Given the description of an element on the screen output the (x, y) to click on. 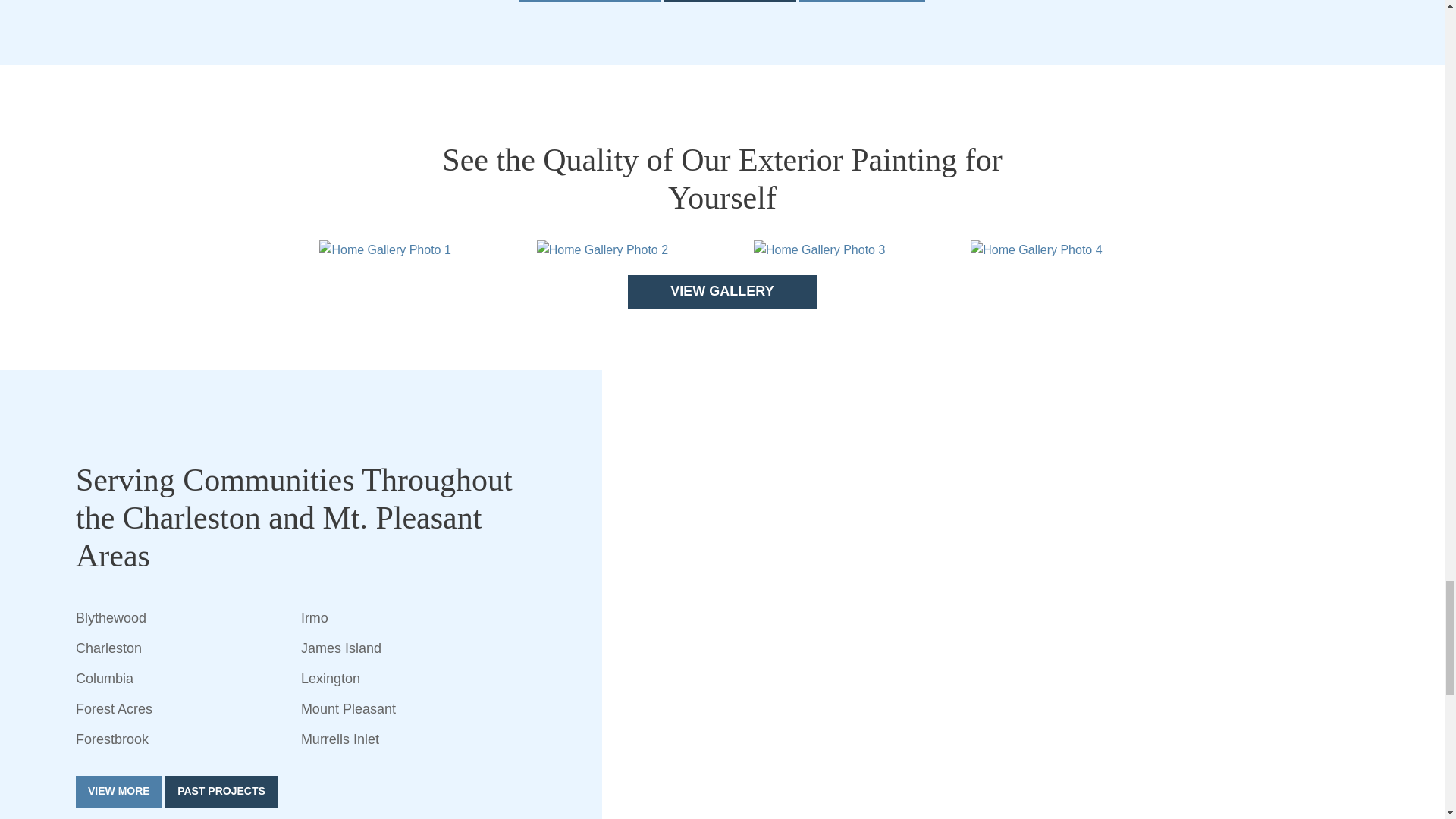
REQUEST A QUOTE (861, 0)
